Given the description of an element on the screen output the (x, y) to click on. 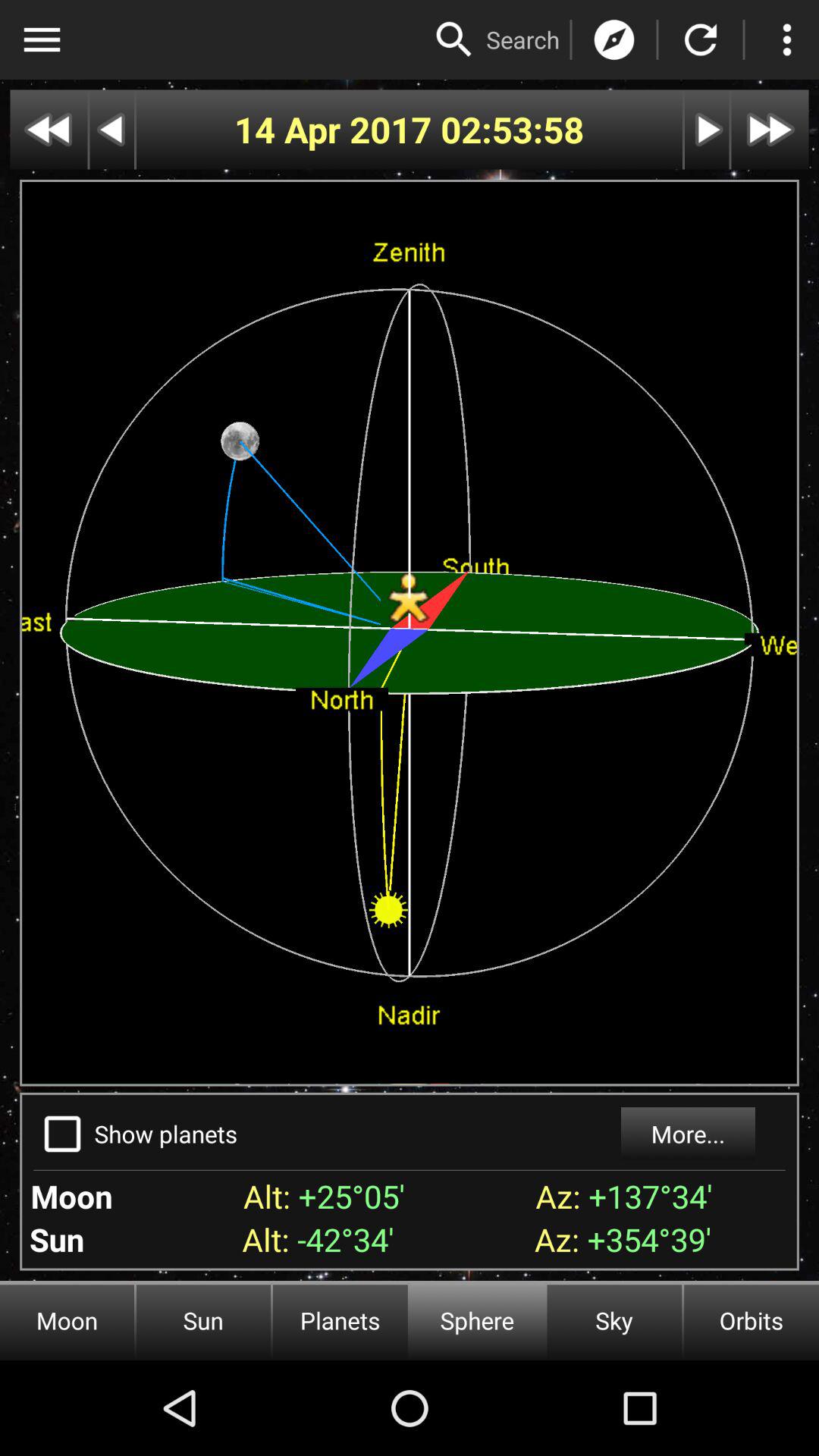
scroll until the 02:53:58 (512, 129)
